Given the description of an element on the screen output the (x, y) to click on. 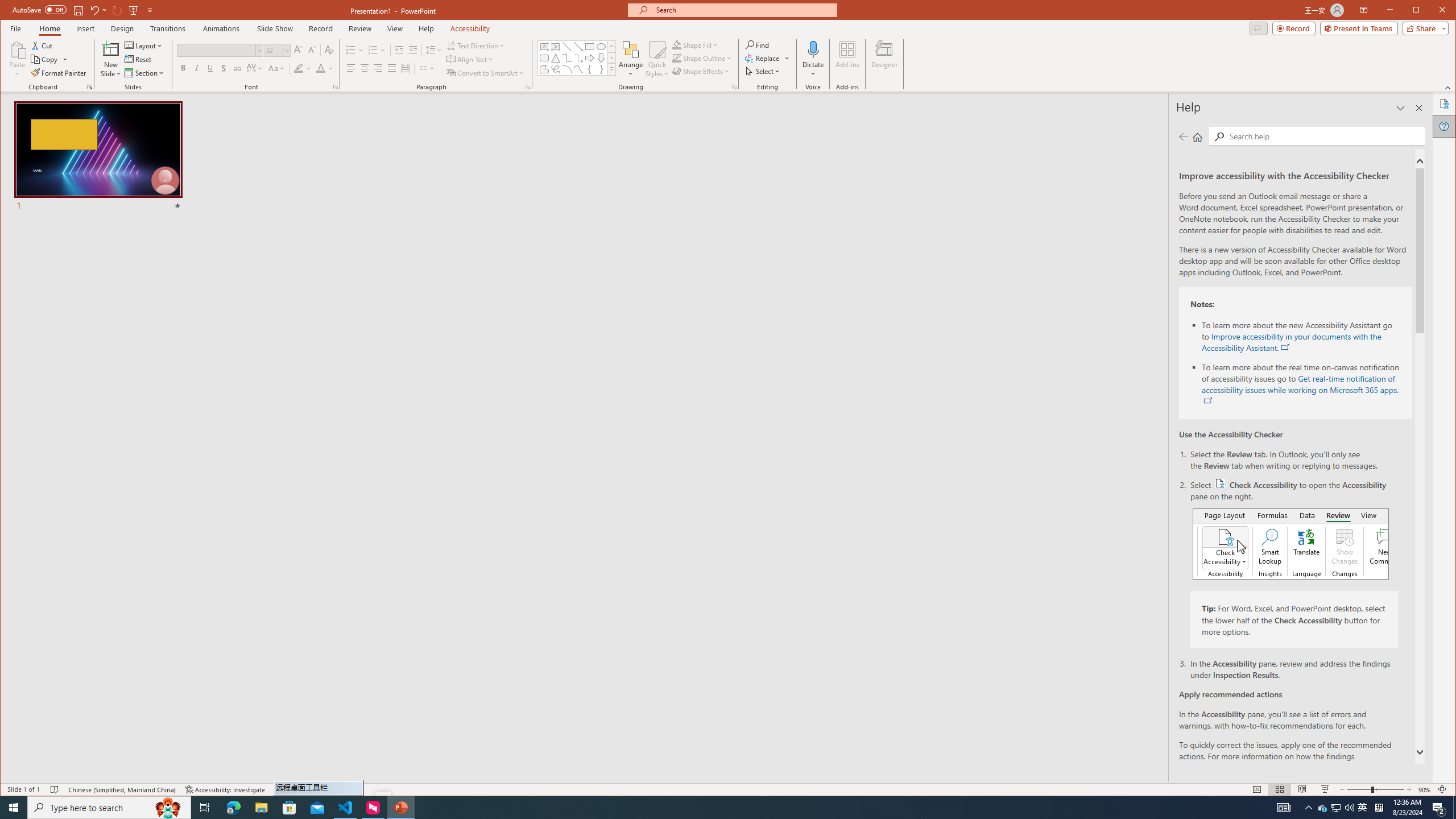
Text Direction (476, 45)
Format Painter (59, 72)
Cut (42, 45)
Italic (196, 68)
PowerPoint - 1 running window (400, 807)
Rectangle: Rounded Corners (544, 57)
Q2790: 100% (1349, 807)
Search highlights icon opens search home window (167, 807)
Shape Outline (702, 57)
Rules for the Accessibility Checker (1310, 767)
Text Highlight Color Yellow (298, 68)
